Given the description of an element on the screen output the (x, y) to click on. 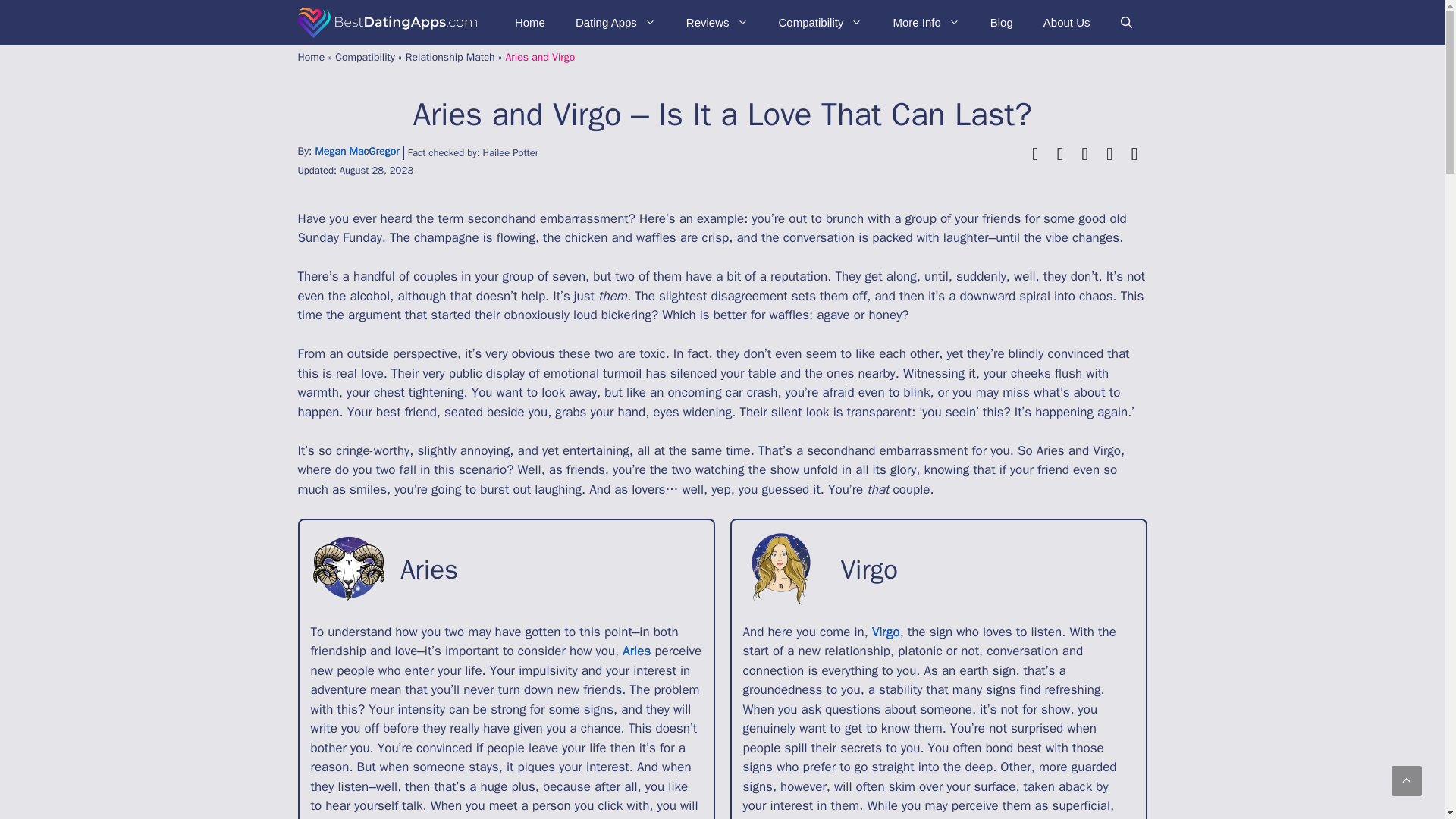
Home (529, 22)
Dating Apps (615, 22)
About Us (1066, 22)
Reviews (716, 22)
Home (310, 56)
Compatibility (819, 22)
Relationship Match (450, 56)
Blog (1001, 22)
Aries Zodiac Symbol (349, 568)
Scroll back to top (1406, 780)
Megan MacGregor (356, 151)
More Info (925, 22)
Compatibility (364, 56)
Virgo Zodiac Symbol (780, 568)
BestDatingApps.com (387, 22)
